Given the description of an element on the screen output the (x, y) to click on. 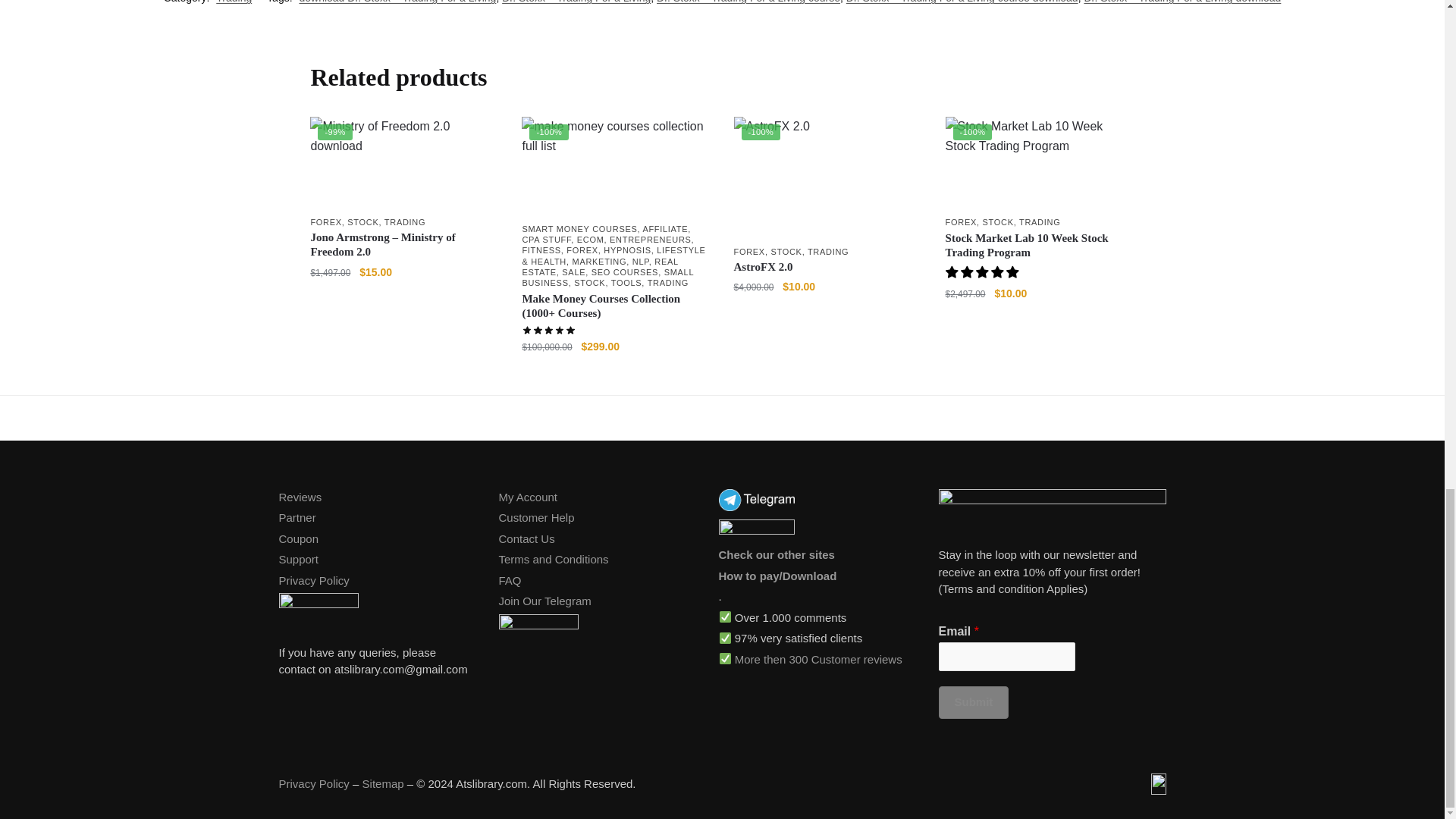
AstroFX 2.0 (828, 178)
Stock Market Lab 10 Week Stock Trading Program (1039, 163)
